Given the description of an element on the screen output the (x, y) to click on. 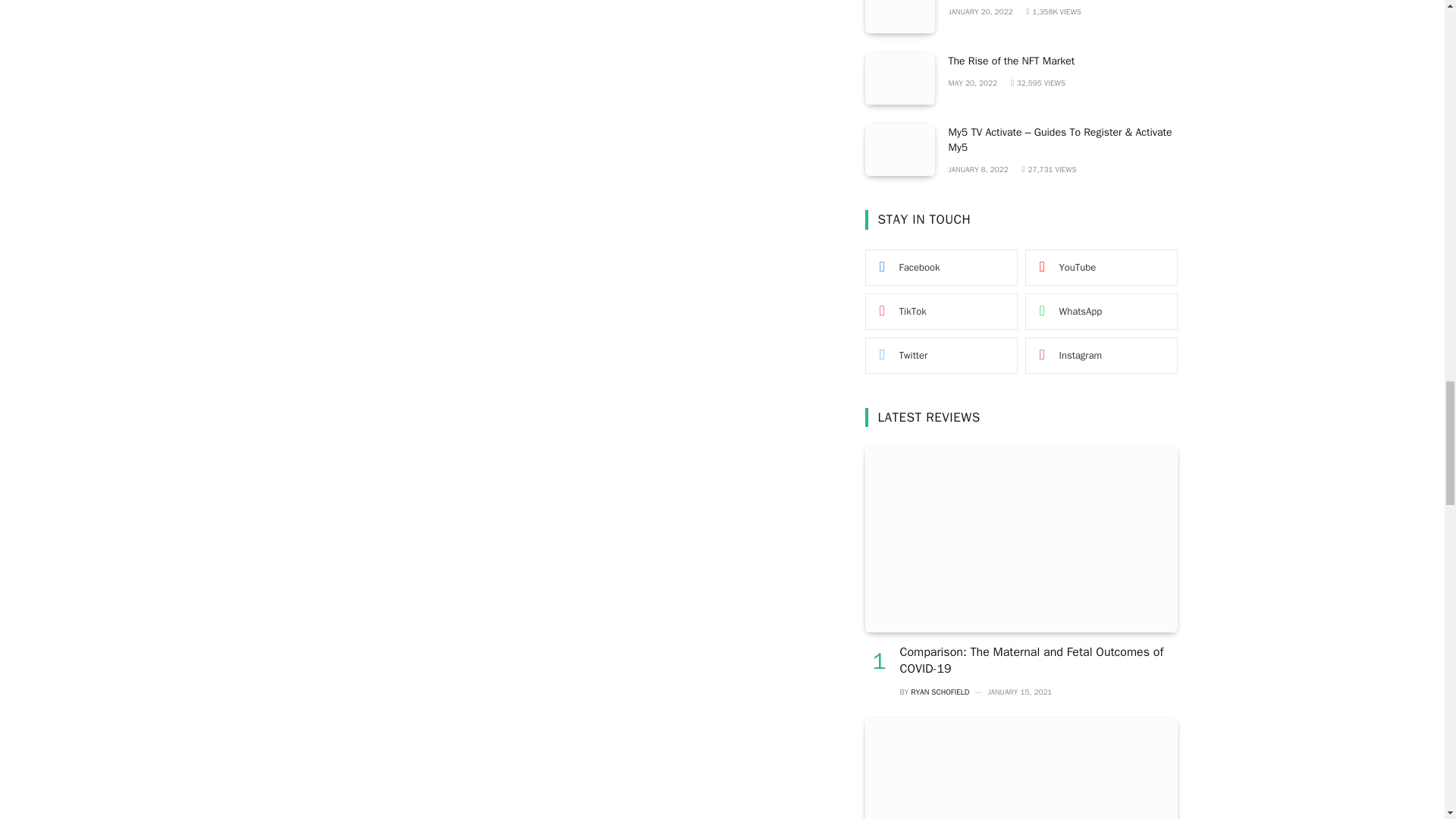
12 Types of Insurance That You Need to know (899, 16)
The Rise of the NFT Market (899, 78)
32595 Article Views (1037, 82)
Comparison: The Maternal and Fetal Outcomes of COVID-19 (1020, 539)
1357673 Article Views (1053, 11)
27731 Article Views (1048, 169)
